Given the description of an element on the screen output the (x, y) to click on. 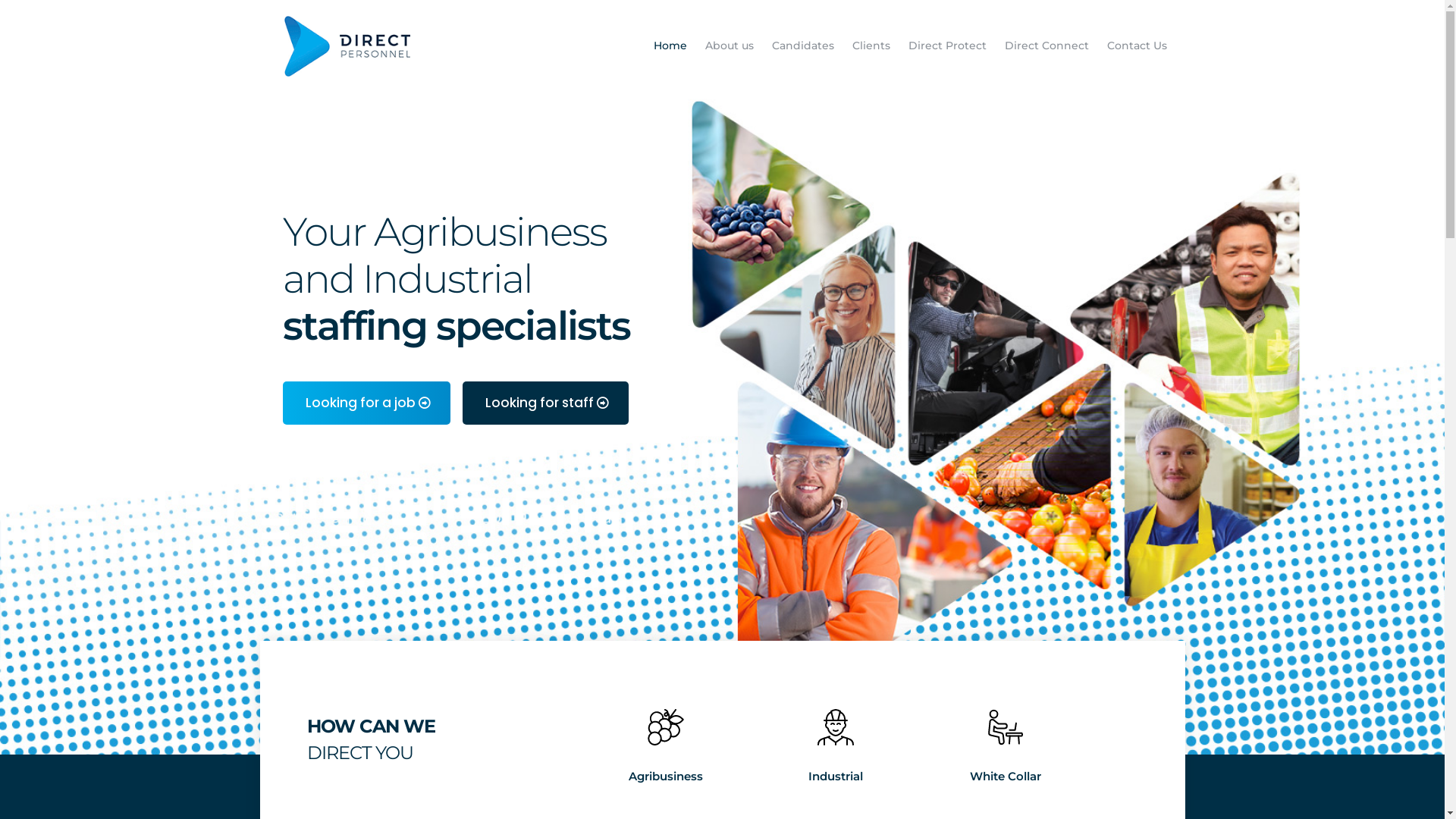
Candidates Element type: text (802, 45)
White Collar Element type: text (1005, 747)
Looking for a job Element type: text (365, 402)
Direct Personnel Element type: hover (346, 45)
Contact Us Element type: text (1137, 45)
Looking for staff Element type: text (545, 402)
Home Element type: text (670, 45)
Clients Element type: text (871, 45)
Industrial Element type: text (835, 747)
Agribusiness Element type: text (665, 747)
About us Element type: text (729, 45)
Direct Connect Element type: text (1045, 45)
Direct Protect Element type: text (947, 45)
